Given the description of an element on the screen output the (x, y) to click on. 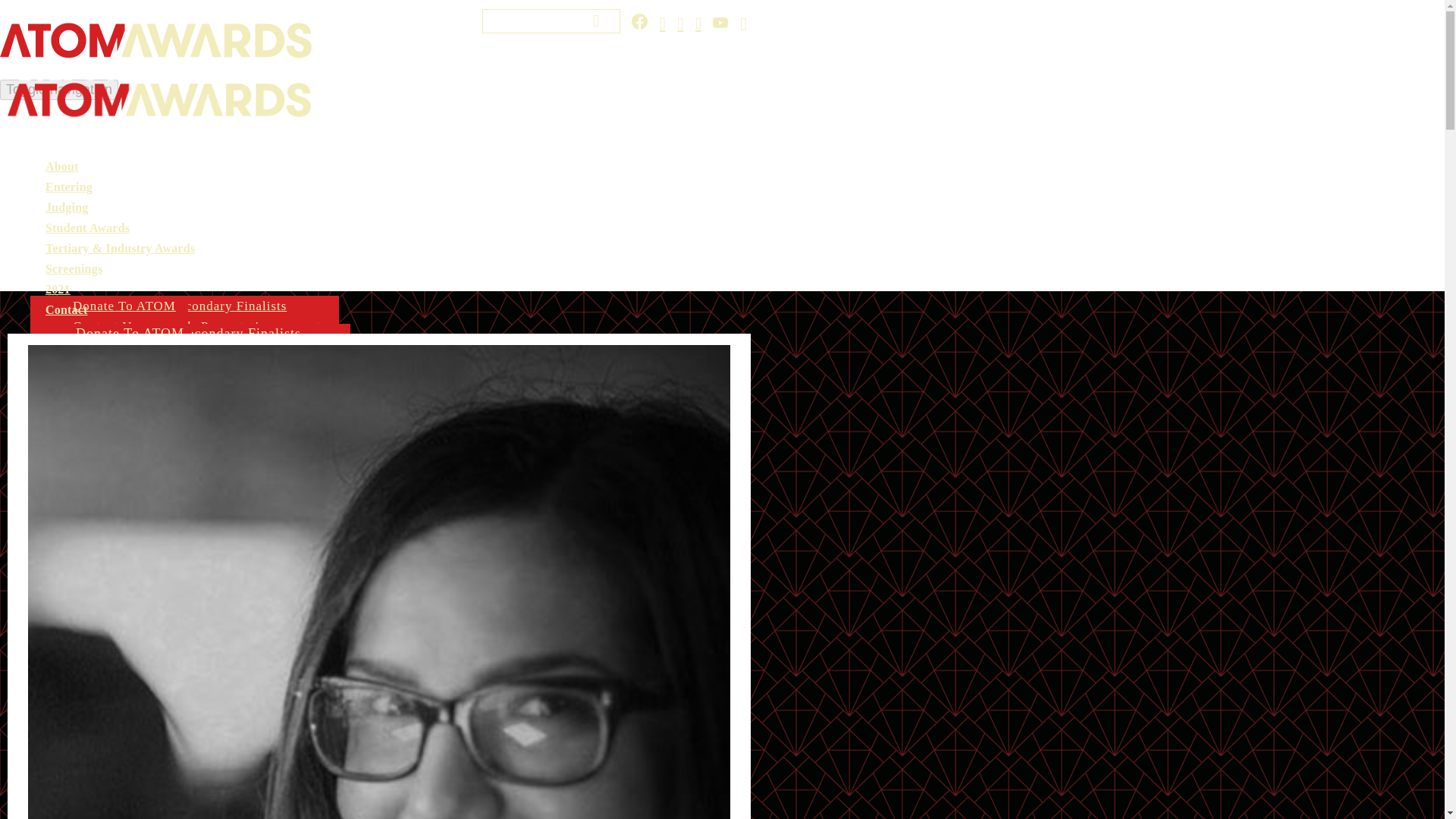
2021 Student Awards Presentation (173, 325)
Award Categories (130, 333)
Contact (63, 267)
Entering (68, 187)
2022 Judges (109, 325)
Toggle navigation (58, 89)
Award Categories (125, 305)
The Judging Process (139, 333)
2021 Student Awards Presentation (173, 325)
Copyright Information (138, 346)
